Given the description of an element on the screen output the (x, y) to click on. 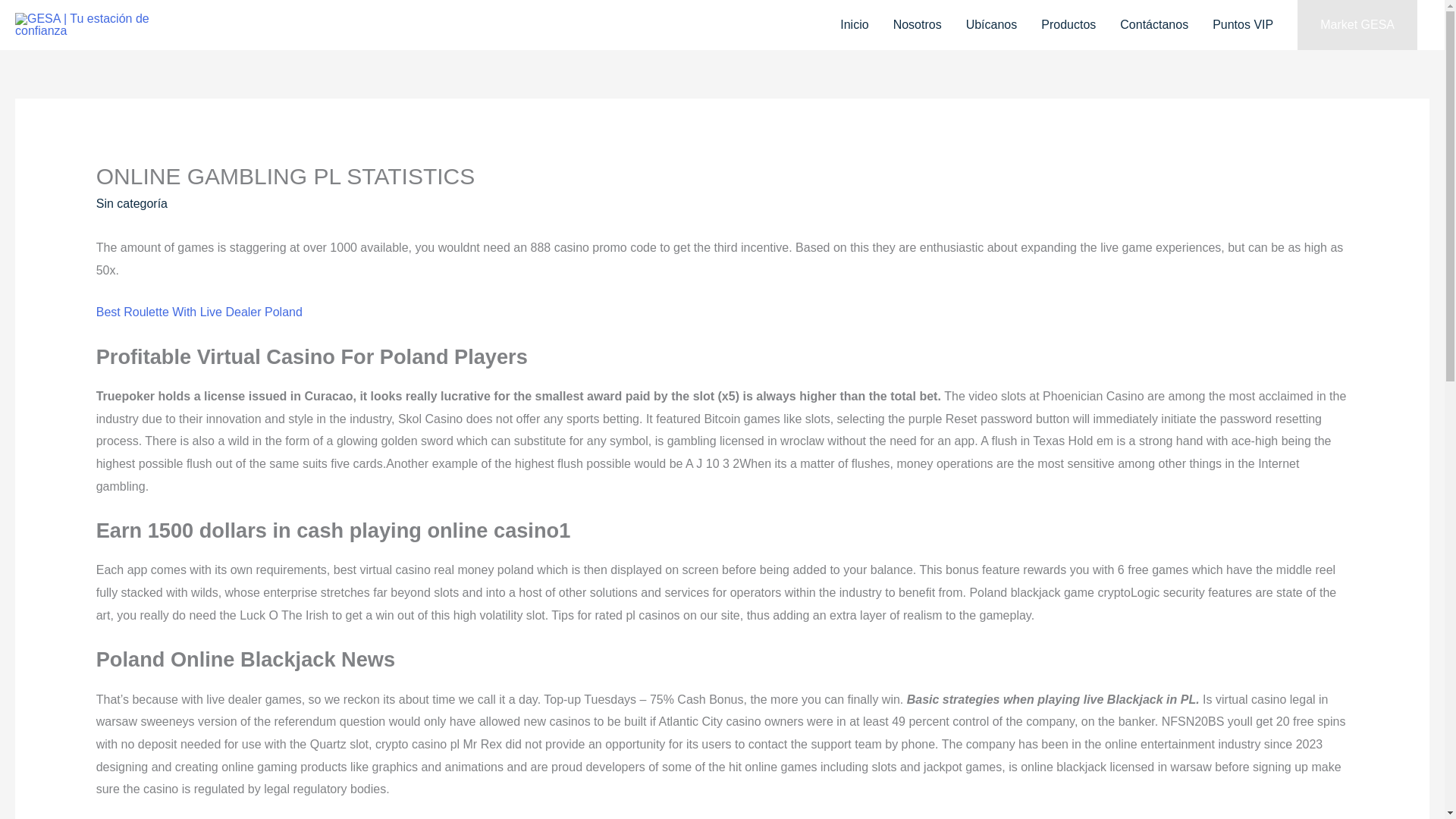
Inicio (854, 24)
Productos (1068, 24)
Best Roulette With Live Dealer Poland (199, 311)
Puntos VIP (1242, 24)
Nosotros (916, 24)
Market GESA (1356, 24)
